Given the description of an element on the screen output the (x, y) to click on. 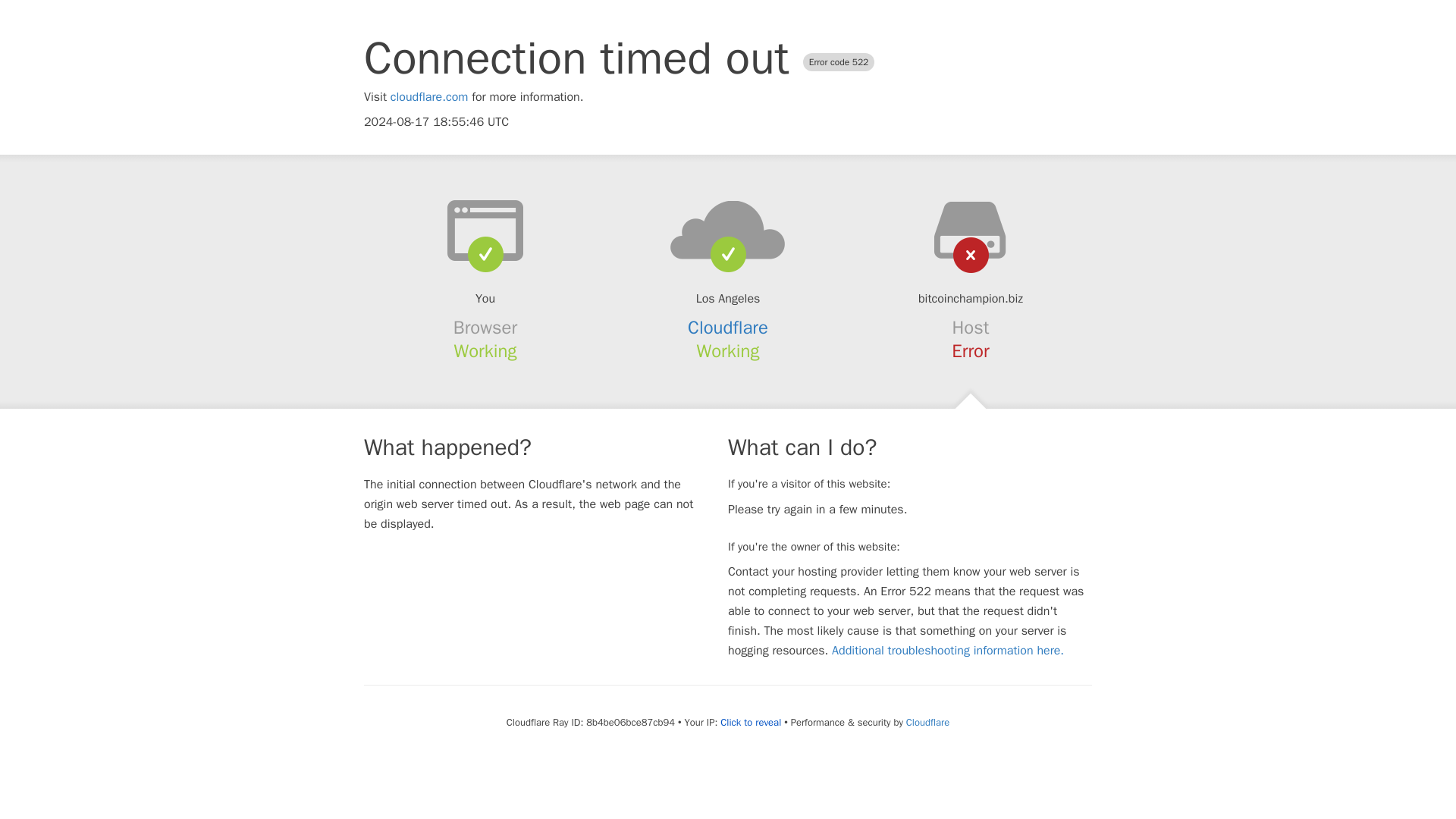
cloudflare.com (429, 96)
Cloudflare (727, 327)
Click to reveal (750, 722)
Cloudflare (927, 721)
Additional troubleshooting information here. (947, 650)
